Given the description of an element on the screen output the (x, y) to click on. 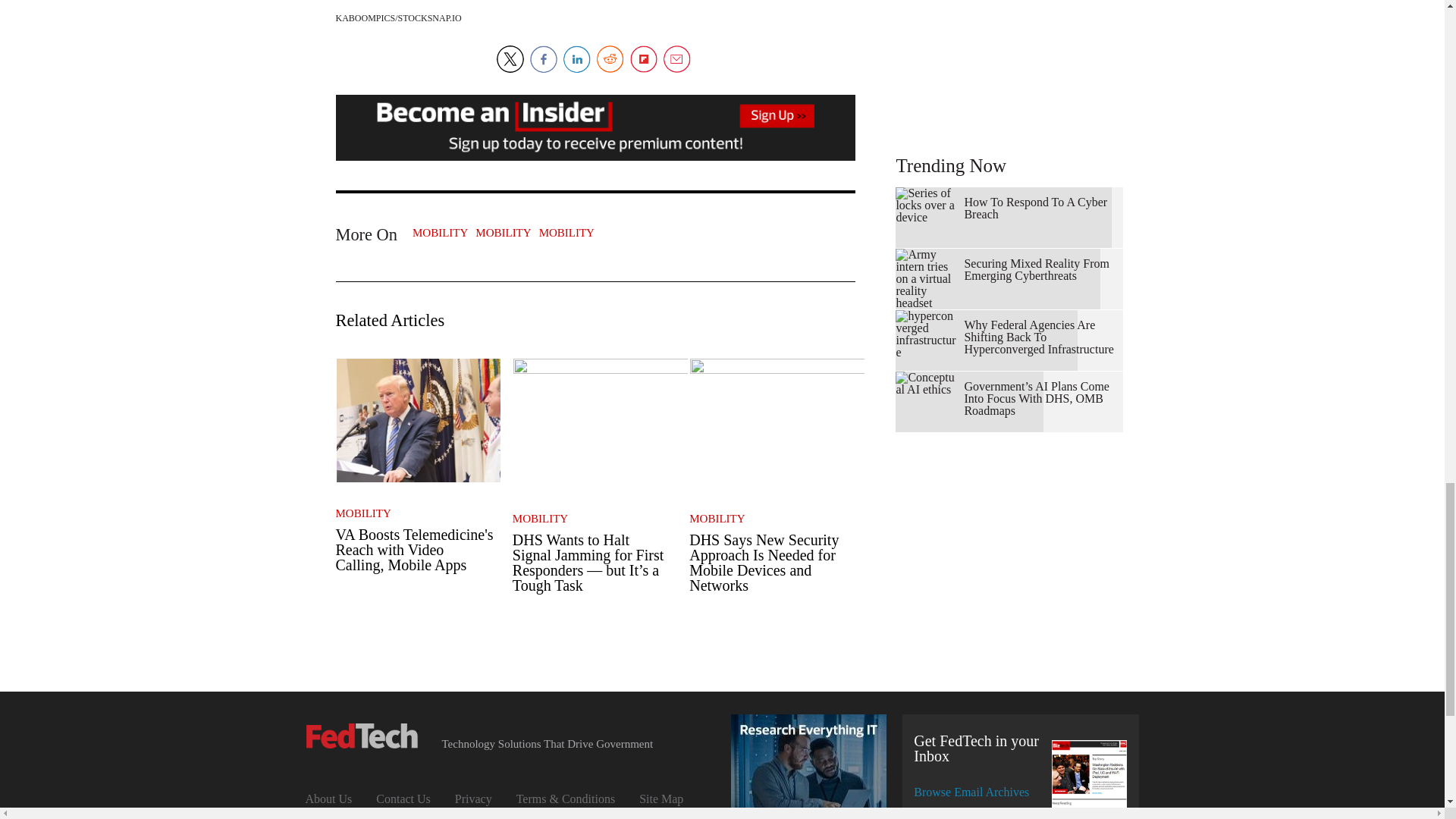
advertisement (1008, 58)
